Given the description of an element on the screen output the (x, y) to click on. 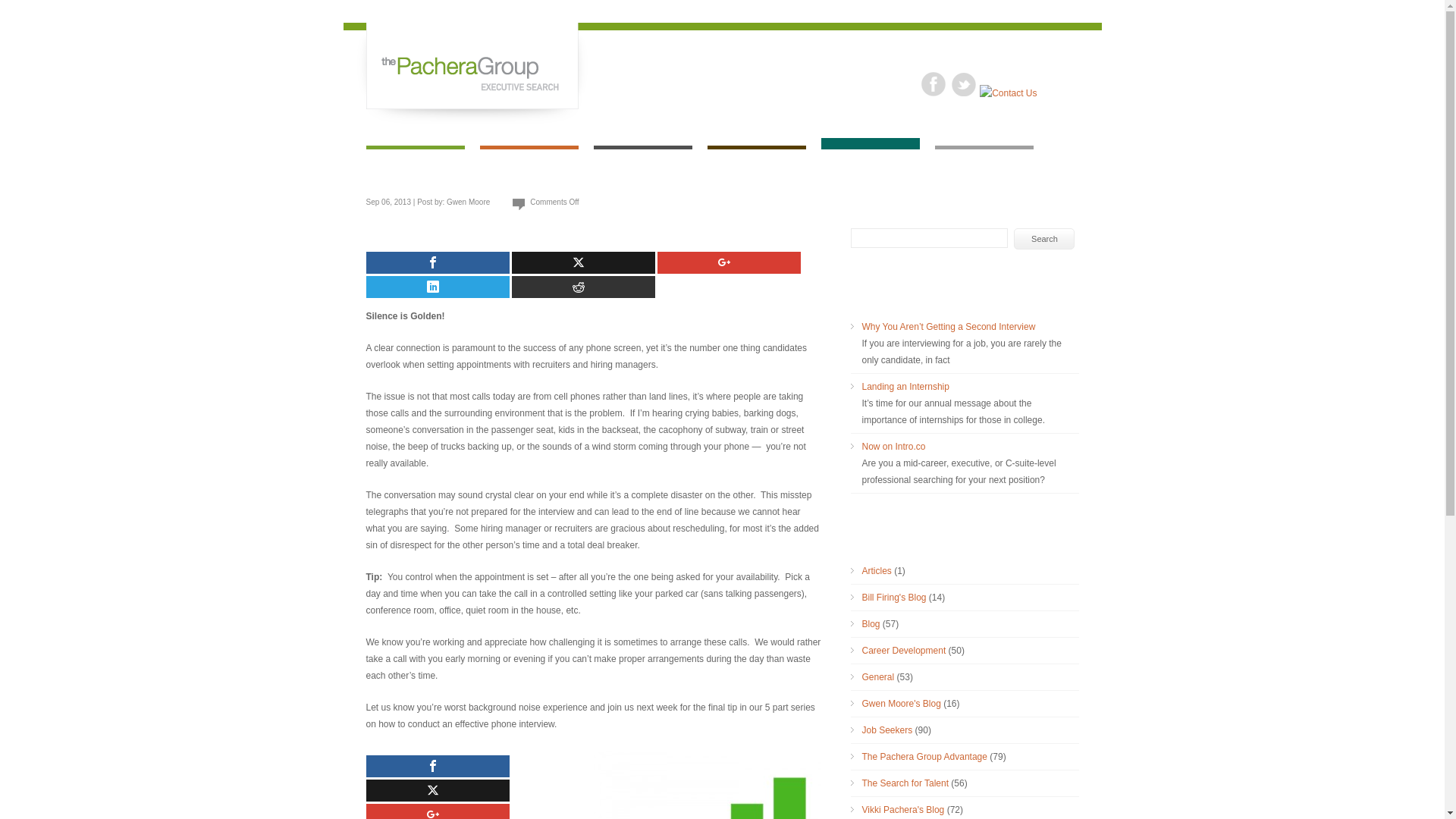
Gwen Moore's Blog (900, 703)
Twitter (436, 790)
Bill Firing's Blog (893, 597)
Gwen Moore (467, 202)
The Pachera Group Advantage (924, 756)
OUR ADVANTAGE (641, 161)
Blog (870, 624)
Linkedin (436, 287)
BLOG (869, 161)
Twitter (582, 262)
